Given the description of an element on the screen output the (x, y) to click on. 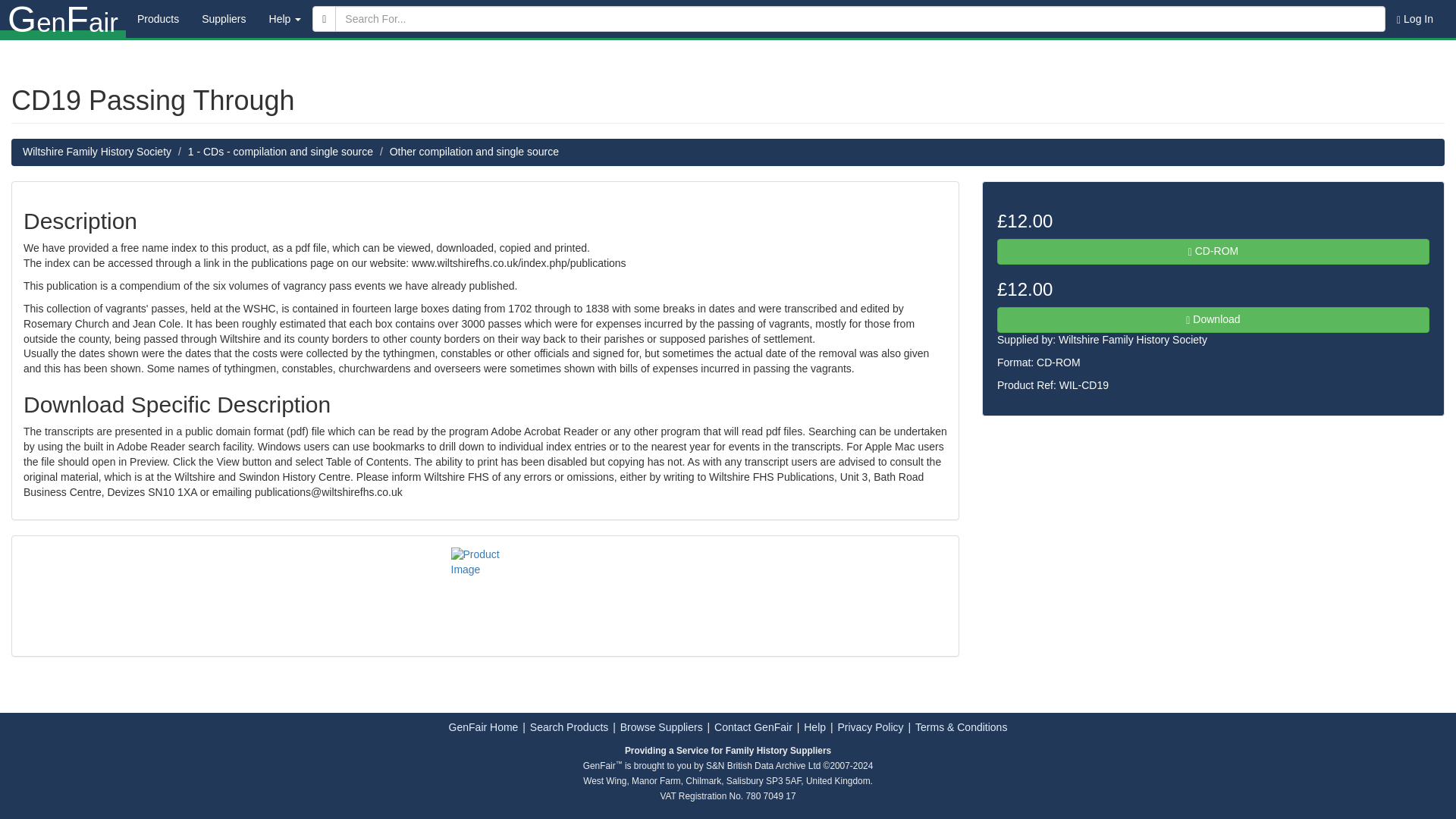
GenFair (62, 18)
Wiltshire Family History Society (97, 151)
Browse Suppliers (661, 727)
Suppliers (223, 18)
Other compilation and single source (474, 151)
Download (1213, 319)
Products (157, 18)
Contact GenFair (753, 727)
CD-ROM (1213, 251)
Help (814, 727)
GenFair Home (482, 727)
Privacy Policy (869, 727)
Help (285, 18)
Wiltshire Family History Society (1132, 339)
1 - CDs - compilation and single source (279, 151)
